Given the description of an element on the screen output the (x, y) to click on. 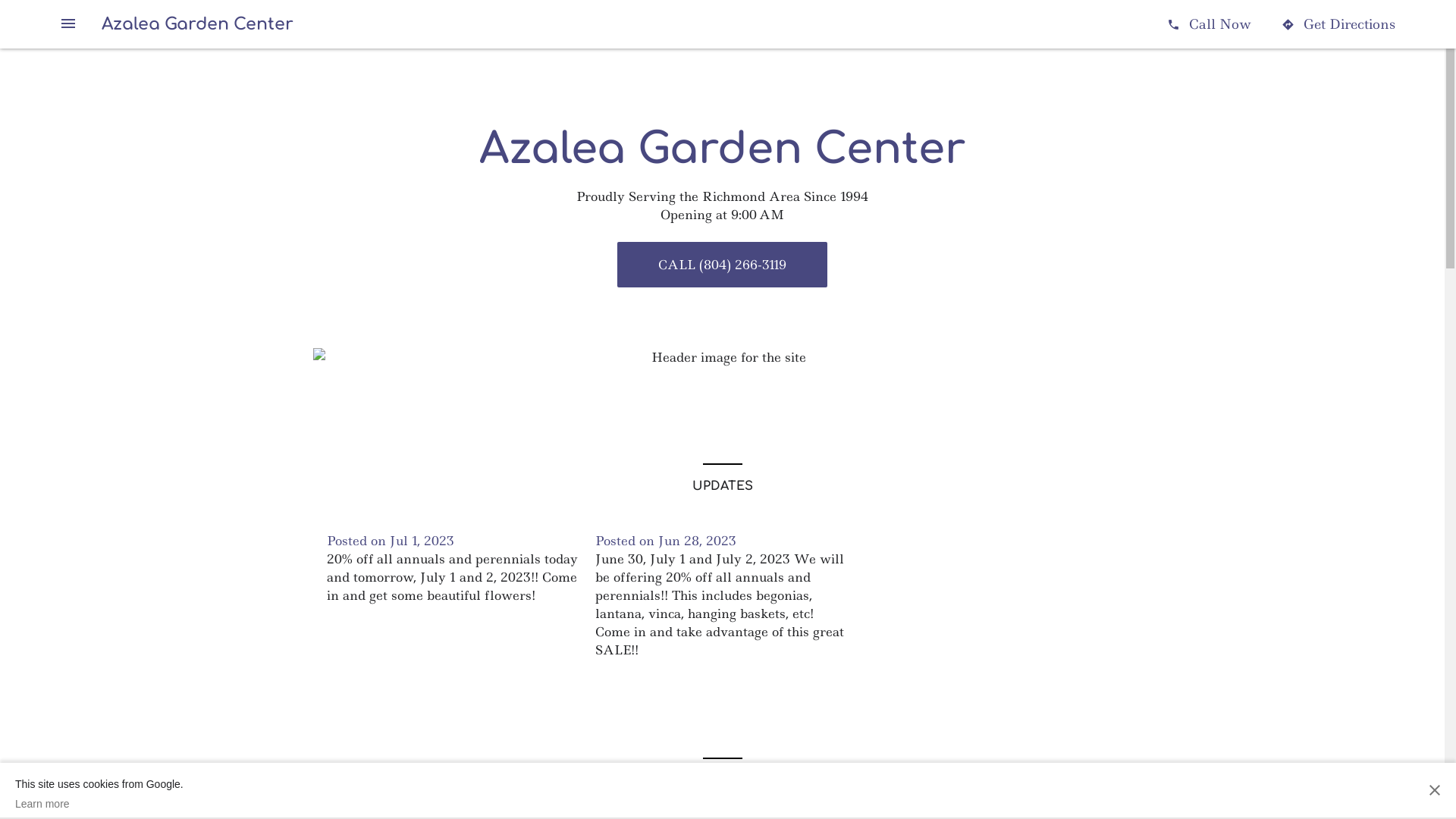
Posted on Jul 1, 2023 Element type: text (389, 540)
Posted on Jun 28, 2023 Element type: text (665, 540)
Learn more Element type: text (99, 803)
CALL (804) 266-3119 Element type: text (722, 264)
Azalea Garden Center Element type: text (197, 24)
